Given the description of an element on the screen output the (x, y) to click on. 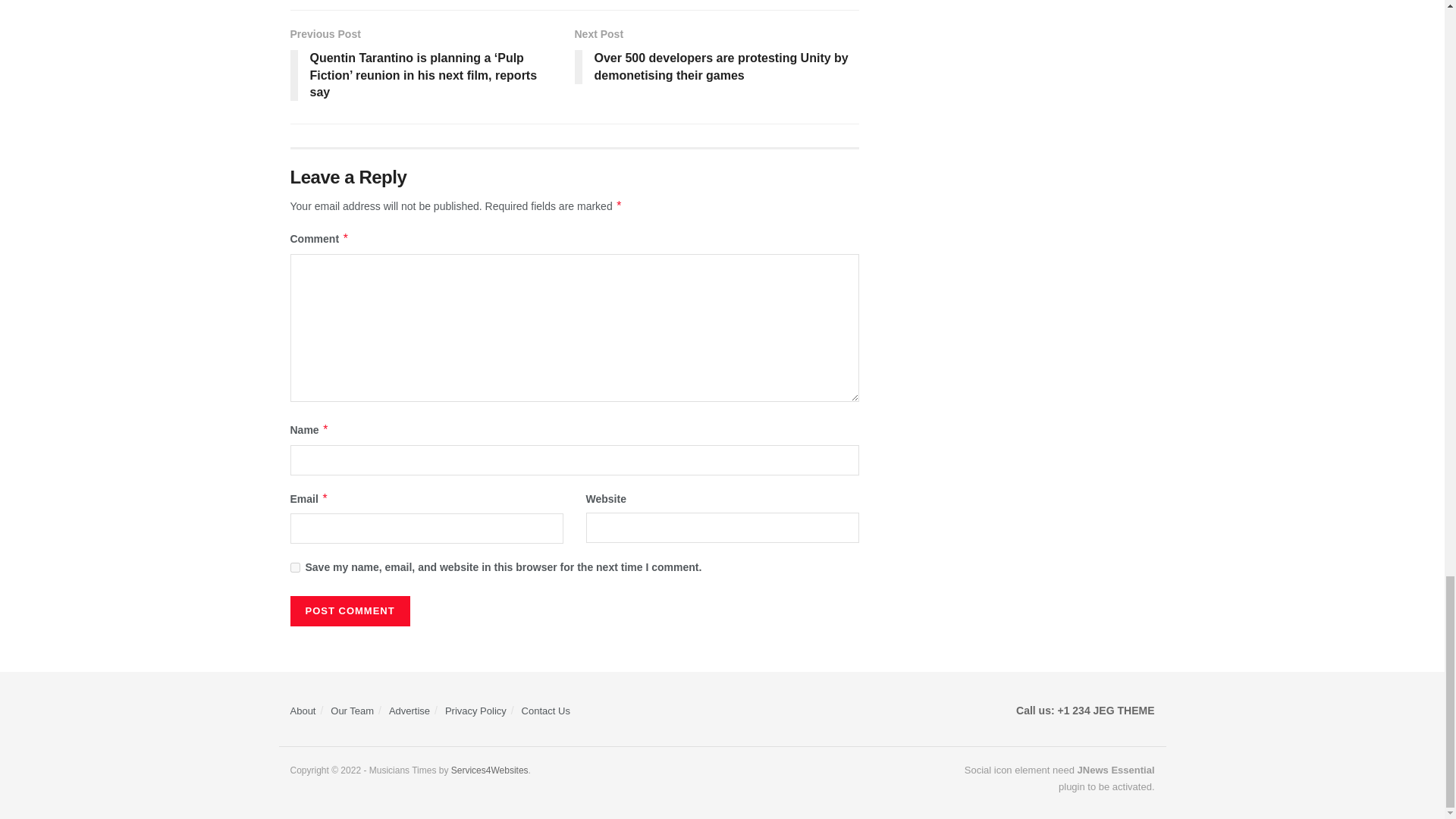
Post Comment (349, 611)
S4W (489, 769)
Post Comment (349, 611)
About (302, 710)
yes (294, 567)
